Given the description of an element on the screen output the (x, y) to click on. 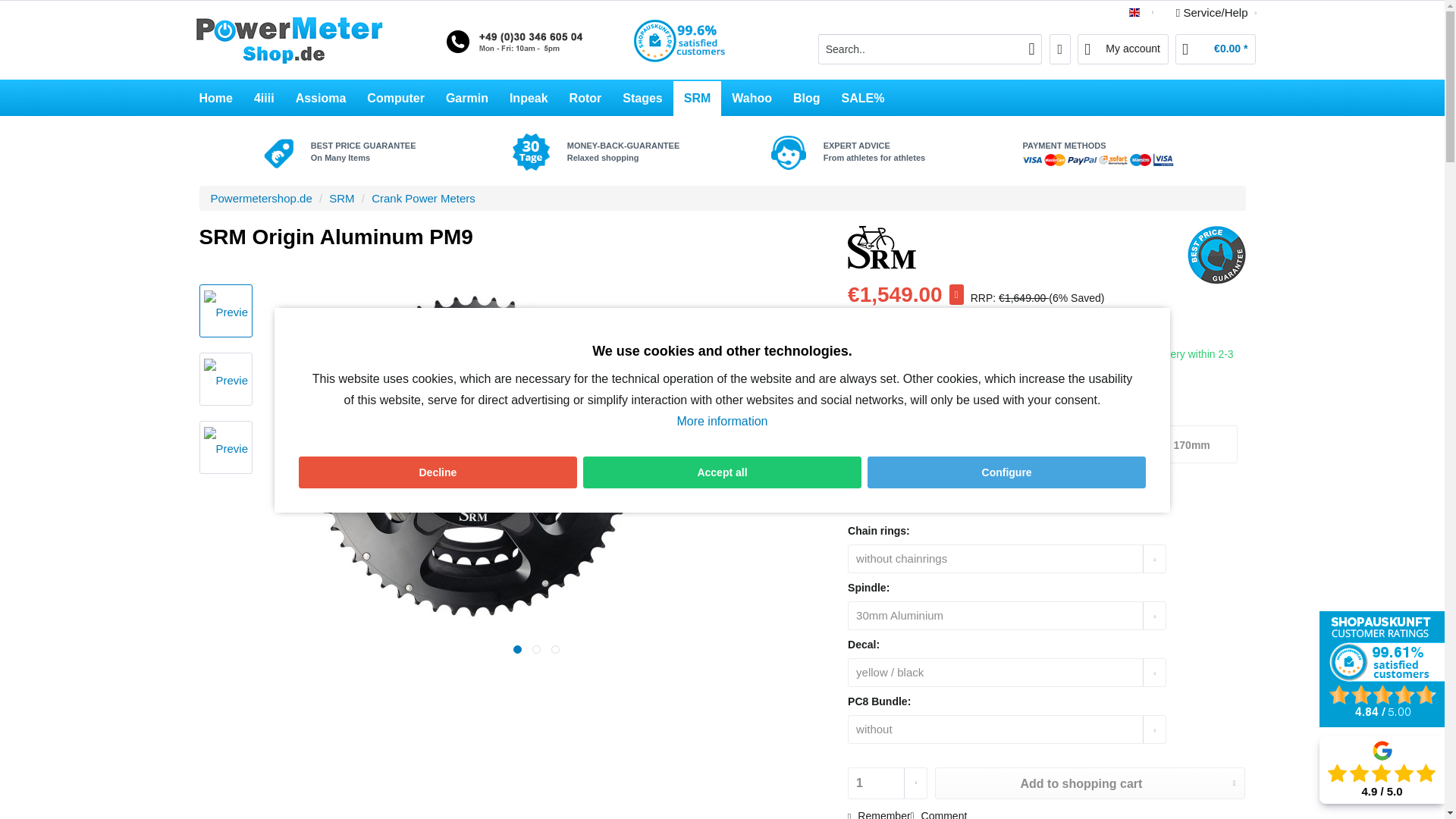
Home (215, 98)
Stages (641, 98)
4iiii (264, 98)
Home (215, 98)
Computer (395, 98)
My account (1123, 49)
Inpeak (529, 98)
Wahoo (751, 98)
My account (1123, 49)
Wahoo (751, 98)
4iiii (264, 98)
Shopping cart (1214, 49)
Blog (807, 98)
SRM (697, 98)
Blog (807, 98)
